Given the description of an element on the screen output the (x, y) to click on. 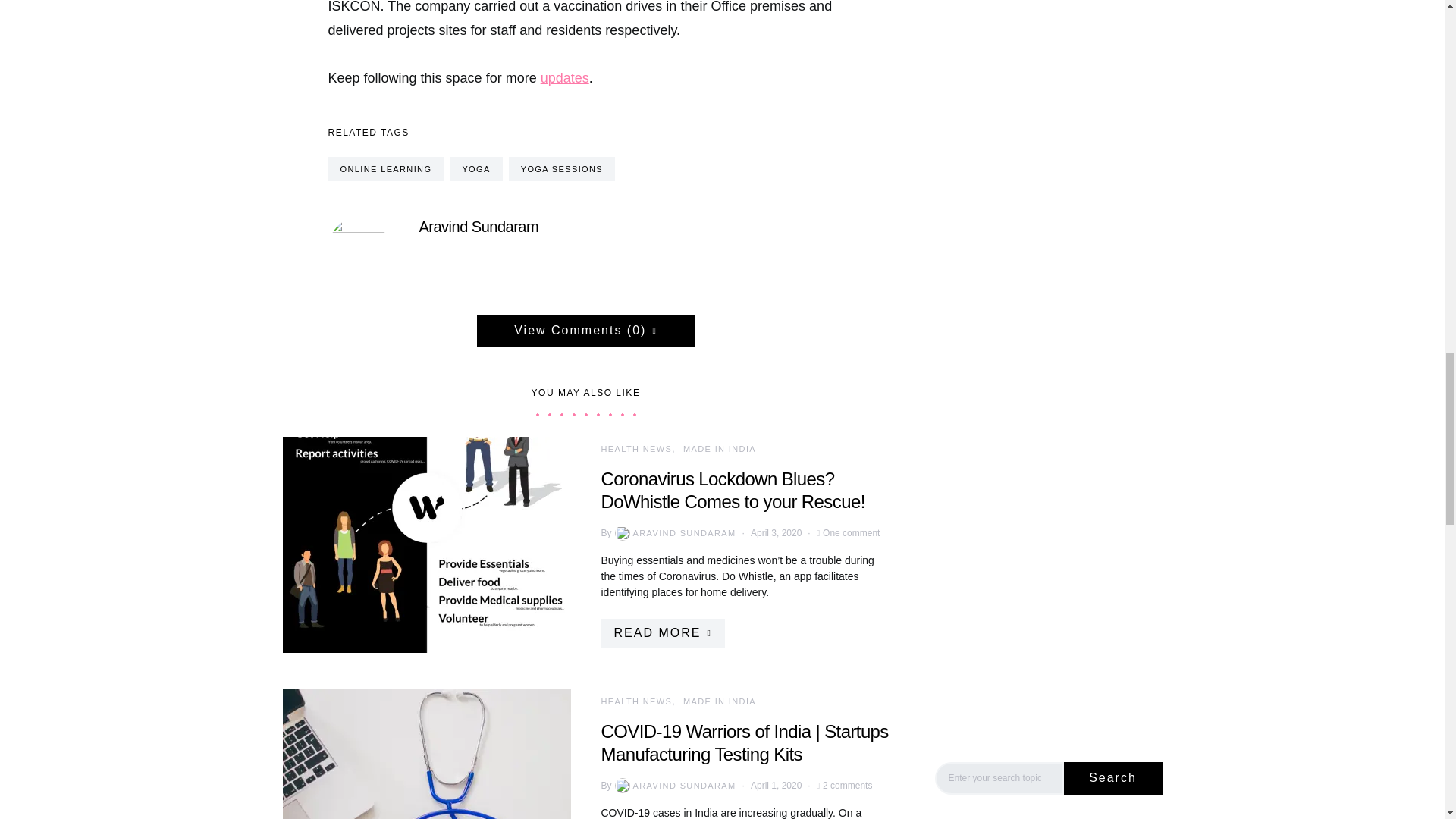
HEALTH NEWS (635, 700)
View all posts by Aravind Sundaram (673, 532)
ONLINE LEARNING (385, 168)
HEALTH NEWS (635, 448)
Coronavirus Lockdown Blues? DoWhistle Comes to your Rescue! (731, 489)
YOGA (475, 168)
View all posts by Aravind Sundaram (673, 785)
One comment (850, 532)
YOGA SESSIONS (561, 168)
READ MORE (661, 633)
MADE IN INDIA (718, 700)
updates (564, 77)
Aravind Sundaram (478, 226)
MADE IN INDIA (718, 448)
ARAVIND SUNDARAM (673, 785)
